Given the description of an element on the screen output the (x, y) to click on. 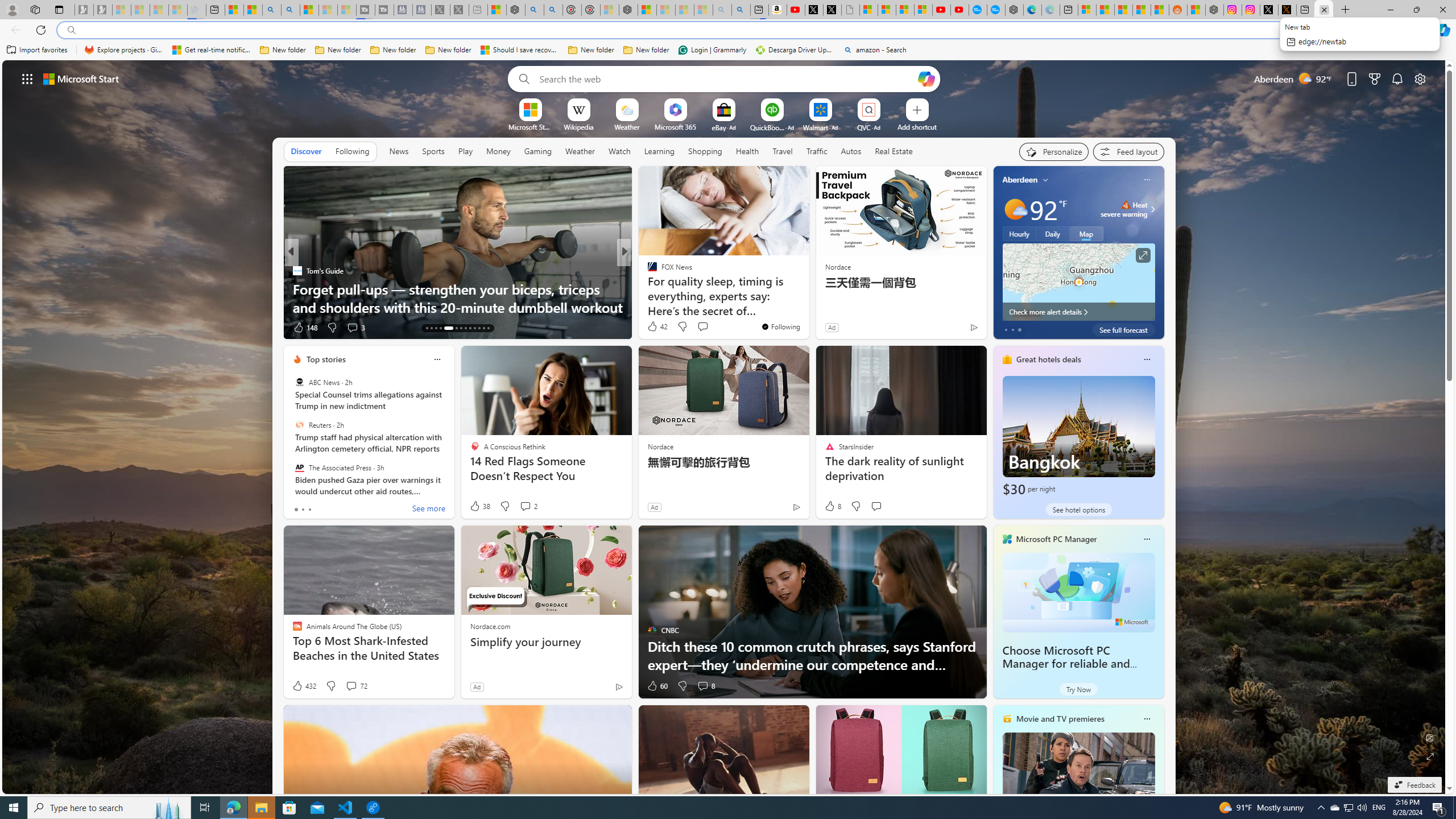
Click to see more information (1142, 255)
Six Exercises to Perfect Your Squat (807, 307)
View comments 14 Comment (704, 327)
Should I save recovered Word documents? - Microsoft Support (519, 49)
tab-1 (302, 509)
Learning (659, 151)
Amazon Echo Dot PNG - Search Images (740, 9)
Movie and TV premieres (1060, 718)
The Independent (647, 270)
AutomationID: tab-14 (431, 328)
View comments 4 Comment (702, 327)
Gaming (537, 151)
Try Now (1078, 689)
